Given the description of an element on the screen output the (x, y) to click on. 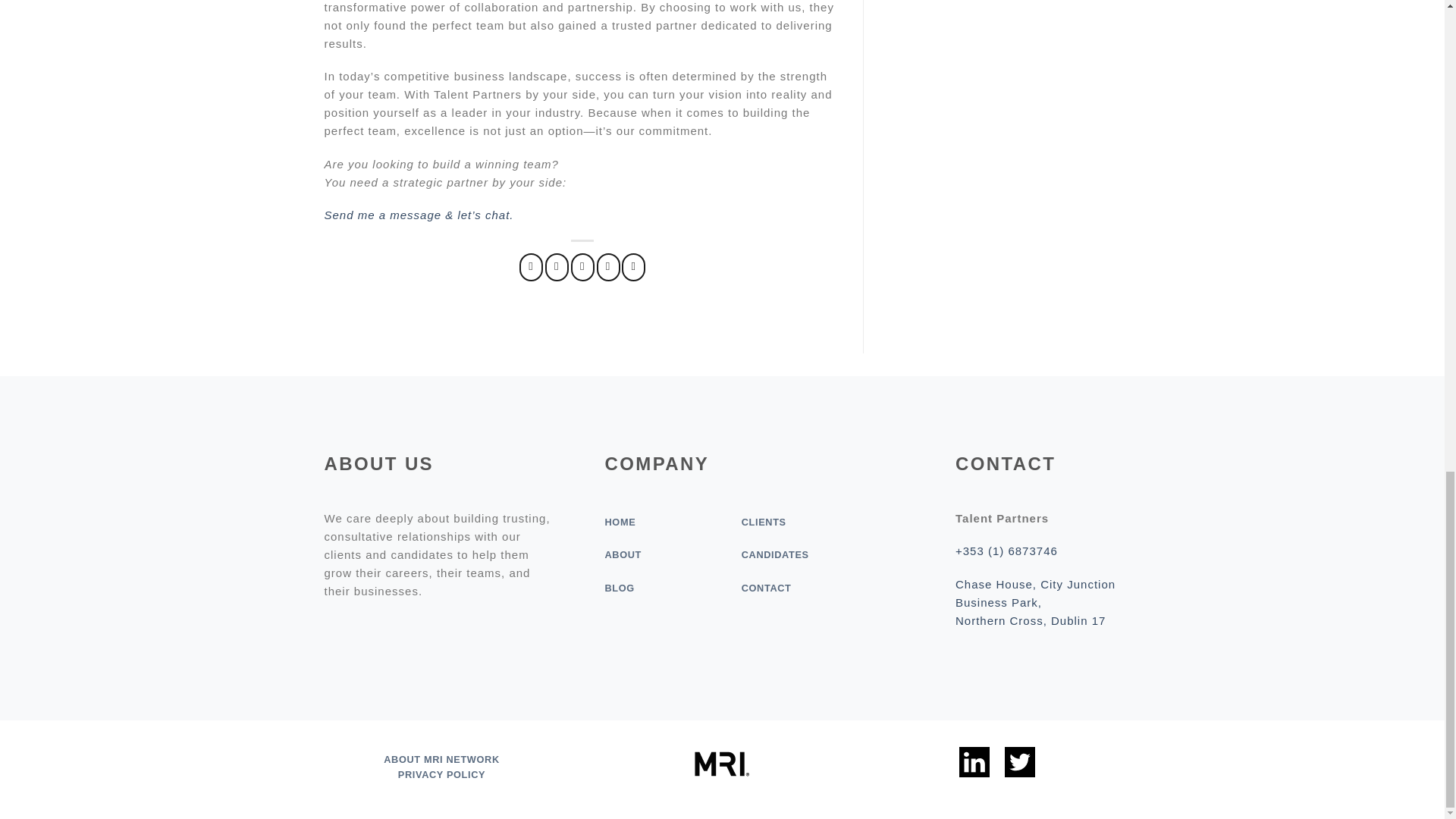
ABOUT (623, 554)
PRIVACY POLICY (440, 774)
HOME (619, 521)
CANDIDATES (775, 554)
CLIENTS (763, 521)
ABOUT MRI NETWORK (441, 758)
BLOG (618, 587)
CONTACT (766, 587)
